Given the description of an element on the screen output the (x, y) to click on. 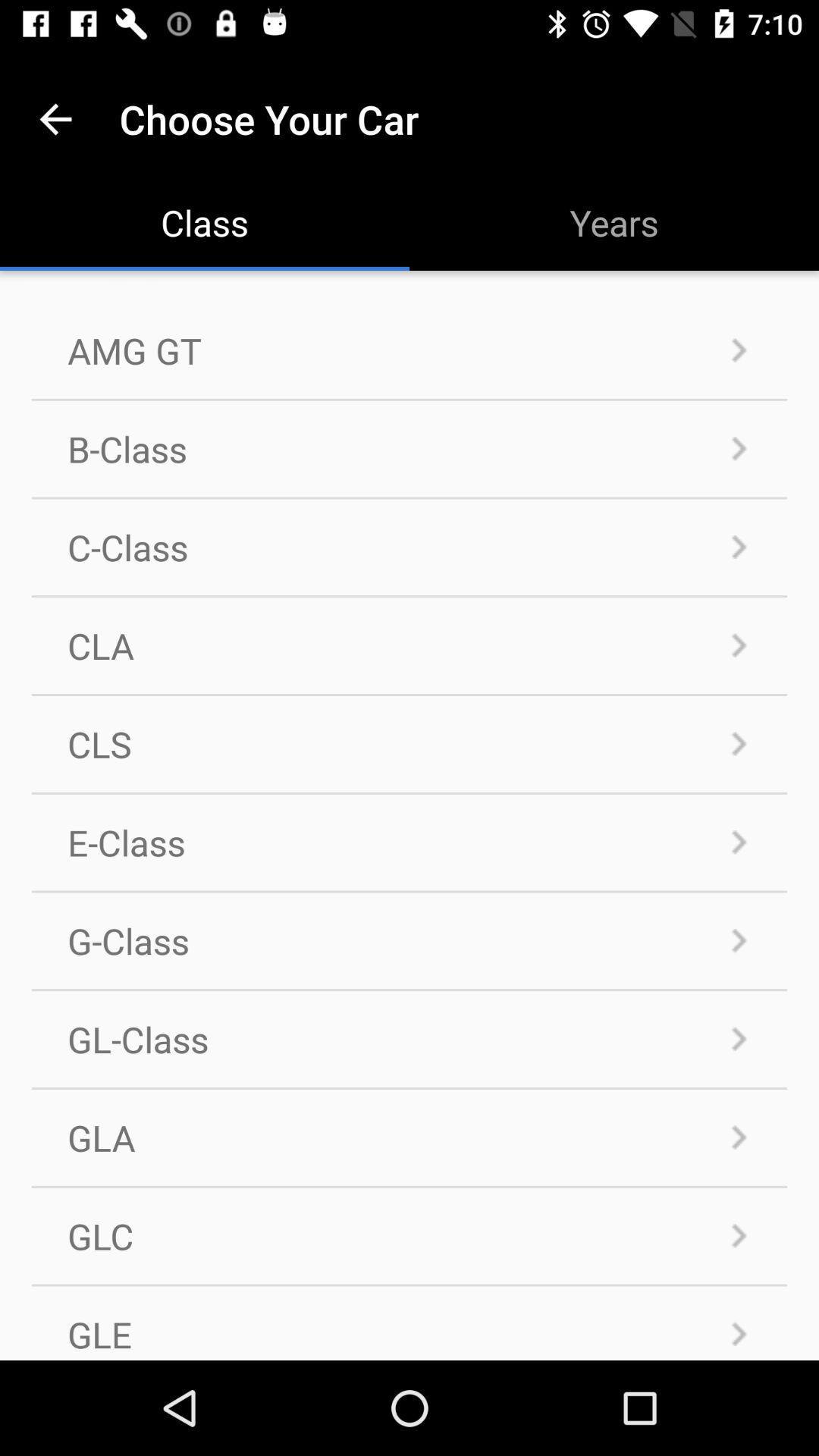
turn off the item next to the choose your car (55, 119)
